Given the description of an element on the screen output the (x, y) to click on. 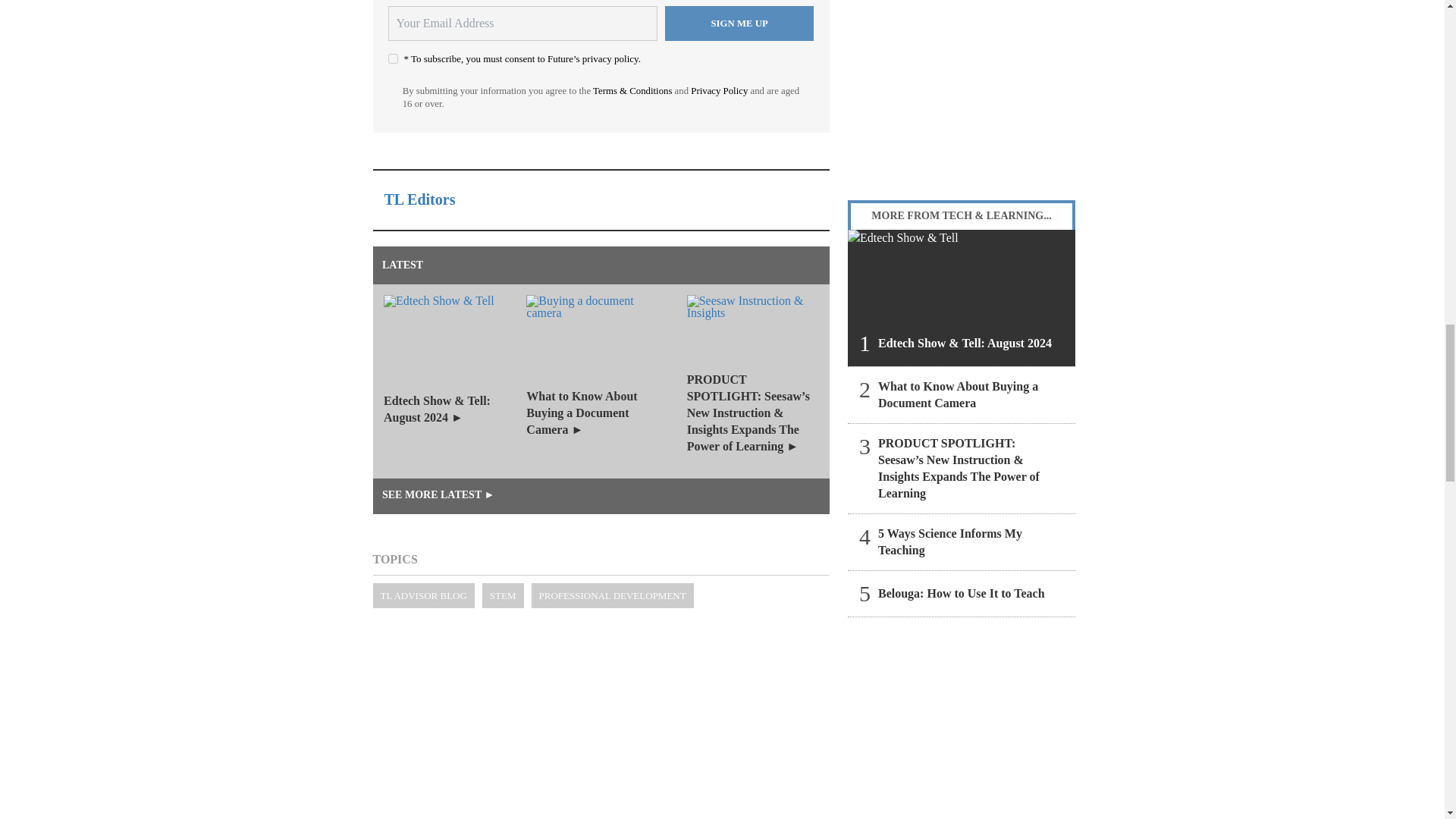
on (392, 58)
Sign me up (739, 22)
